Given the description of an element on the screen output the (x, y) to click on. 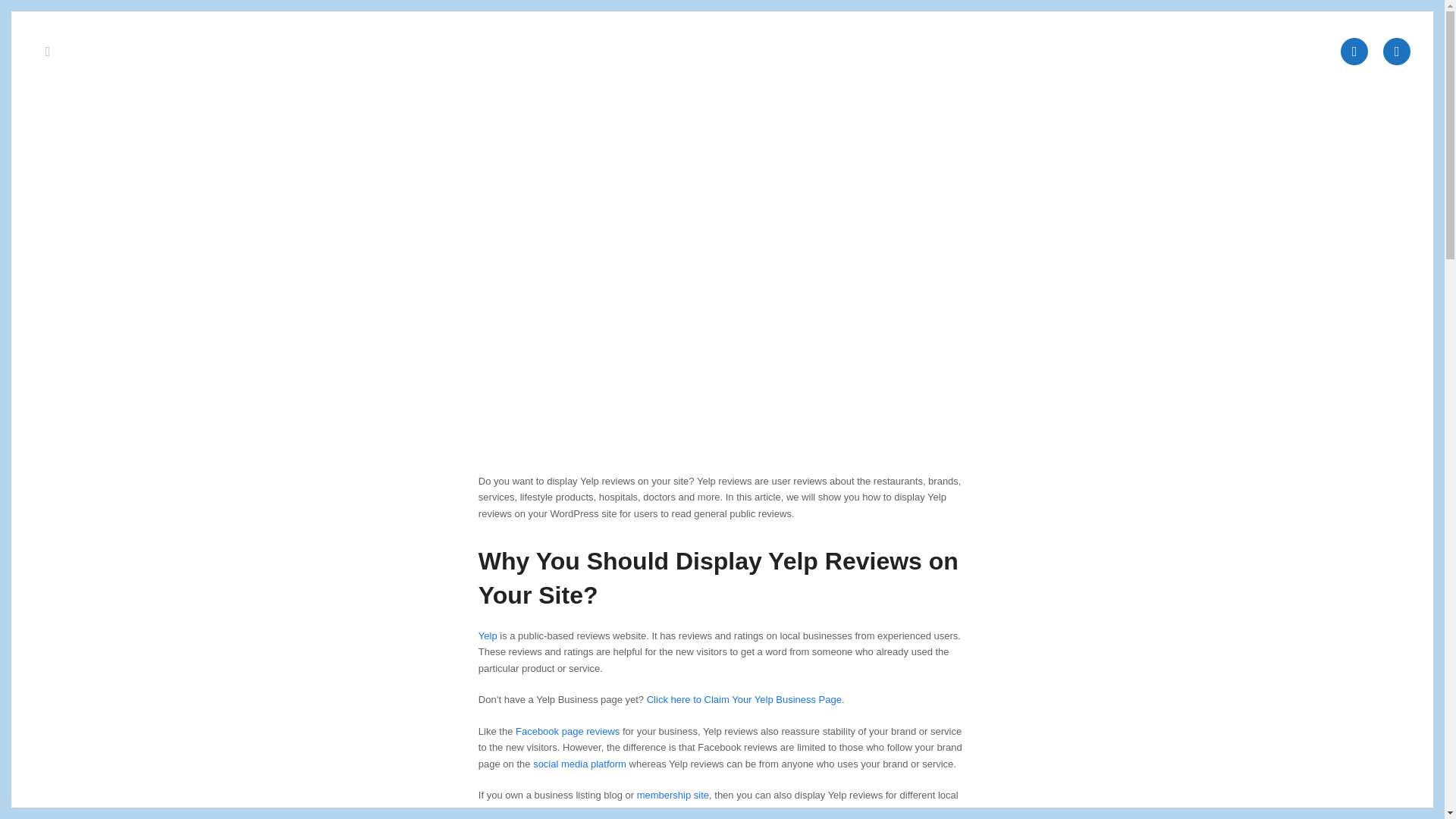
social media platform (579, 763)
How to Display Your Facebook Page Reviews in WordPress (567, 731)
24 Best WordPress Themes for Membership Sites (673, 794)
Yelp (488, 635)
membership site (673, 794)
Yelp (488, 635)
increase organic traffic (666, 810)
Facebook page reviews (567, 731)
Click here to Claim Your Yelp Business Page (743, 699)
Yelp (743, 699)
